Given the description of an element on the screen output the (x, y) to click on. 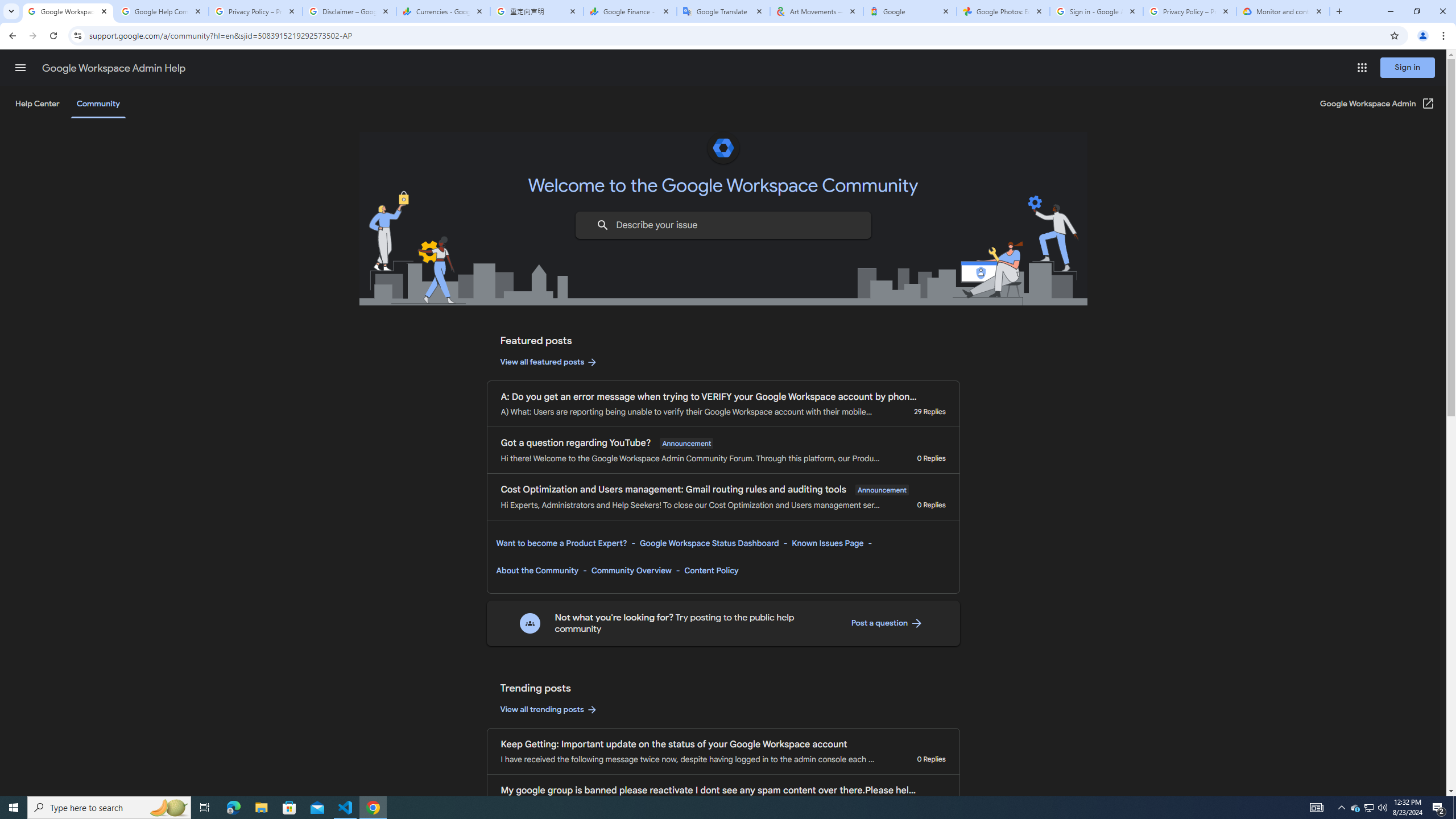
Minimize (1390, 11)
View all trending posts (548, 709)
Reload (52, 35)
Google (909, 11)
System (6, 6)
Close (1318, 11)
Sign in - Google Accounts (1096, 11)
Bookmark this tab (1393, 35)
View all featured posts (548, 361)
System (6, 6)
New Tab (1338, 11)
